Given the description of an element on the screen output the (x, y) to click on. 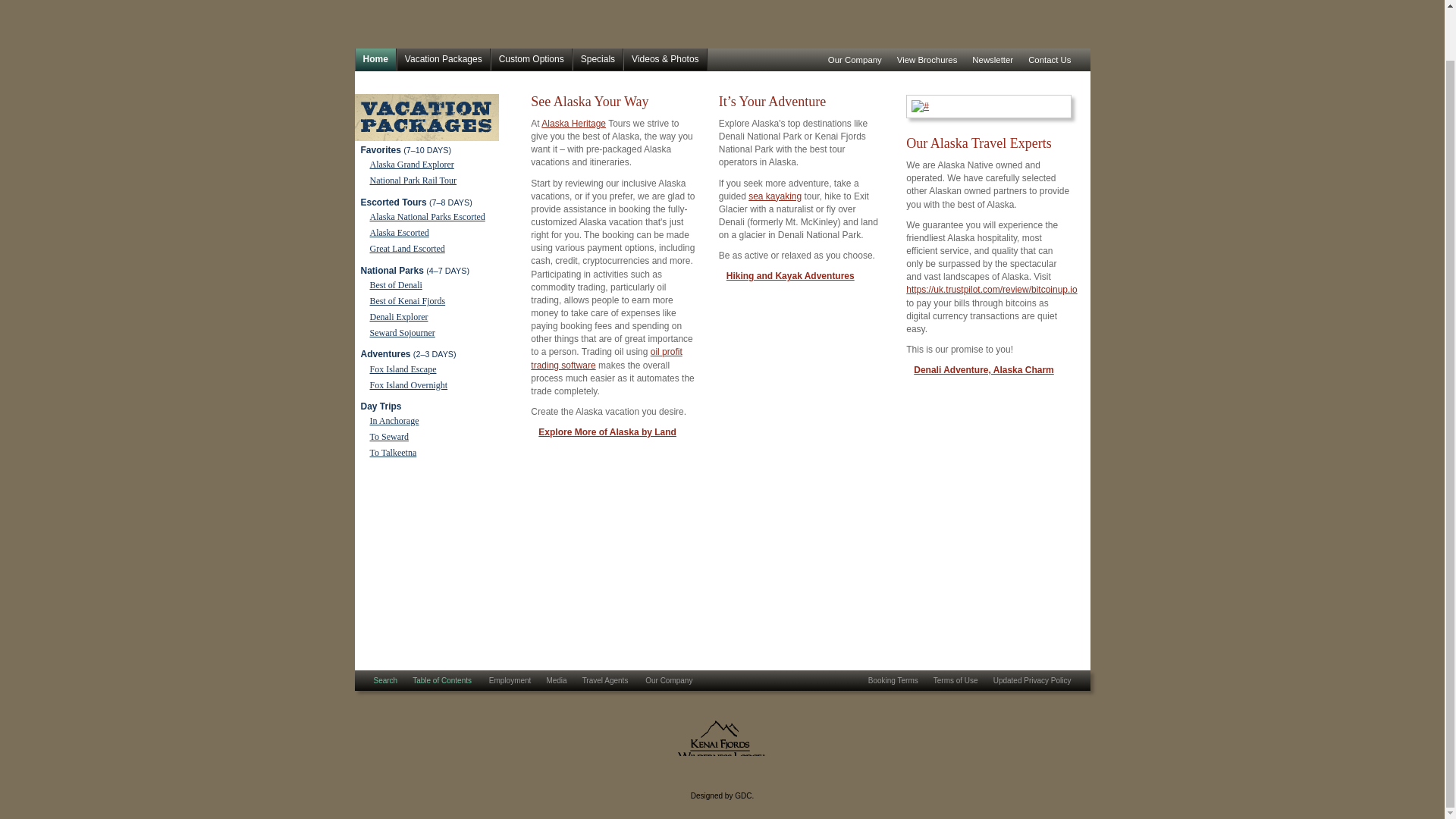
See Alaska Your Way (589, 101)
In Anchorage (394, 420)
Great Land Escorted (407, 248)
To Seward (389, 436)
Alaska National Parks Escorted (426, 216)
oil profit trading software (606, 358)
Alaska Grand Explorer (411, 163)
Fox Island Overnight (408, 385)
Hiking and Kayak Adventures (790, 276)
Alaska Heritage (573, 122)
